Given the description of an element on the screen output the (x, y) to click on. 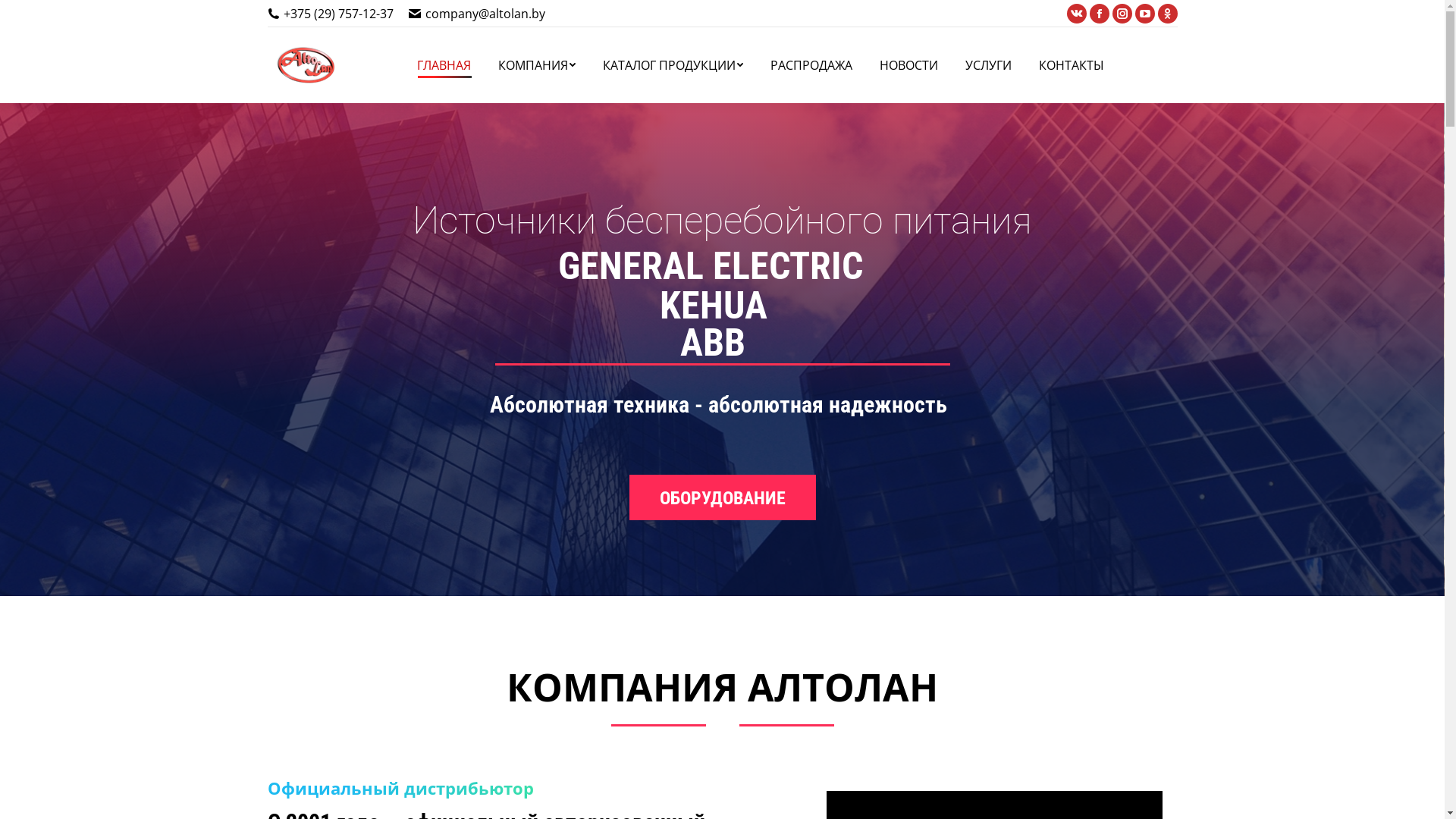
Instagram Element type: text (1121, 13)
Facebook Element type: text (1098, 13)
YouTube Element type: text (1144, 13)
